Given the description of an element on the screen output the (x, y) to click on. 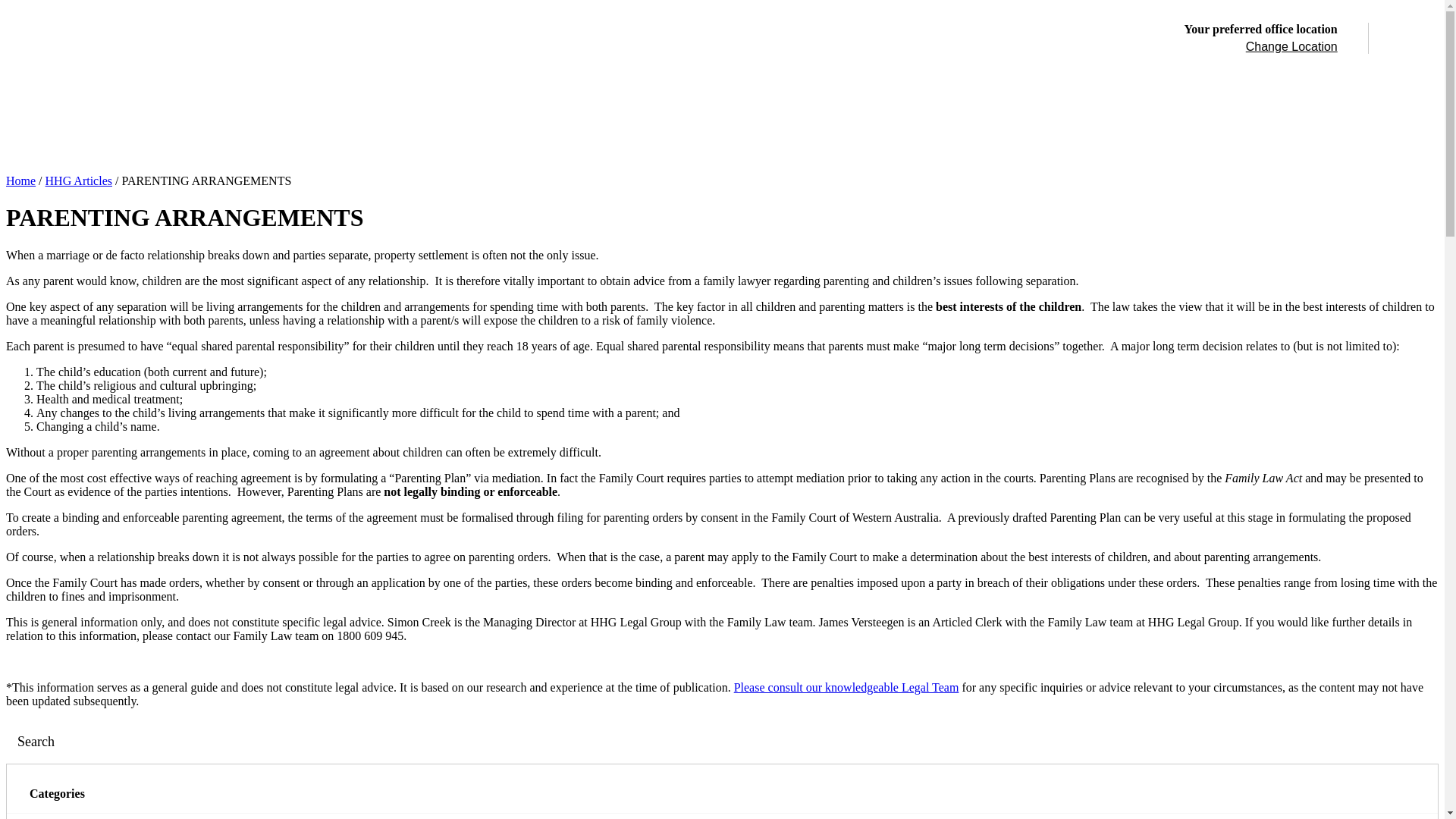
Traffic (561, 142)
Change Location (1292, 47)
Criminal Law (492, 142)
Commercial Law (638, 142)
Family Law (216, 142)
